Given the description of an element on the screen output the (x, y) to click on. 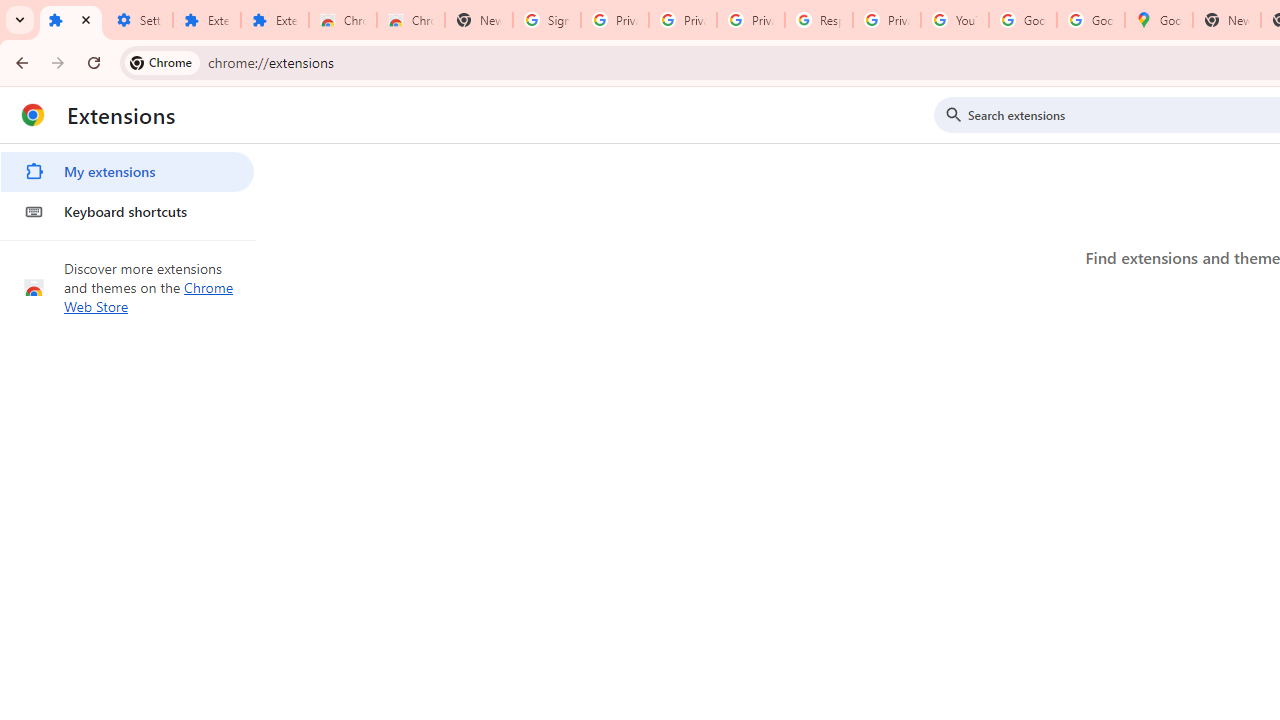
Extensions (206, 20)
My extensions (127, 171)
Extensions (70, 20)
New Tab (1226, 20)
YouTube (954, 20)
Extensions (274, 20)
Chrome Web Store - Themes (411, 20)
